Given the description of an element on the screen output the (x, y) to click on. 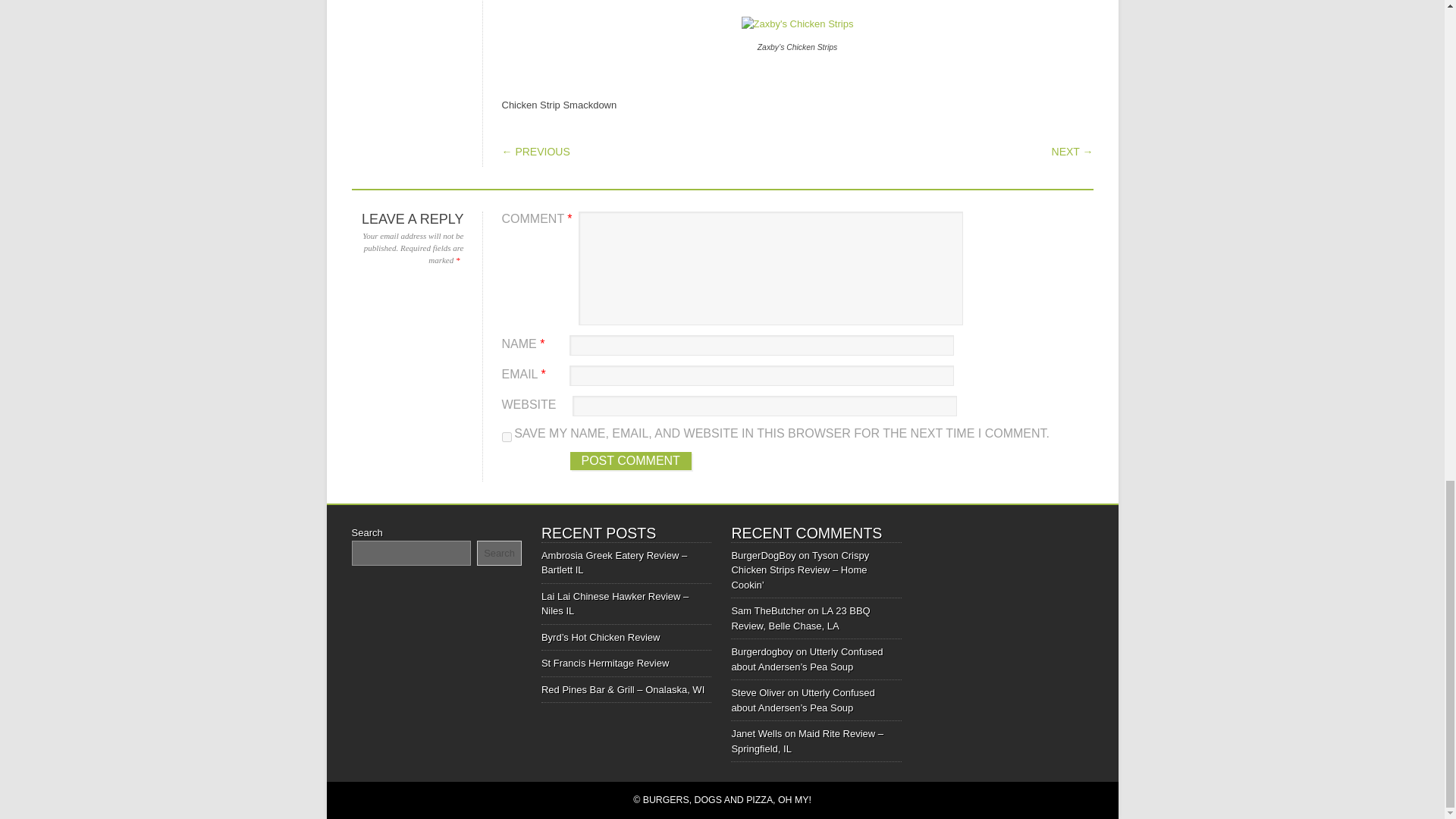
ZAX (797, 23)
yes (507, 437)
Post Comment (630, 461)
